Given the description of an element on the screen output the (x, y) to click on. 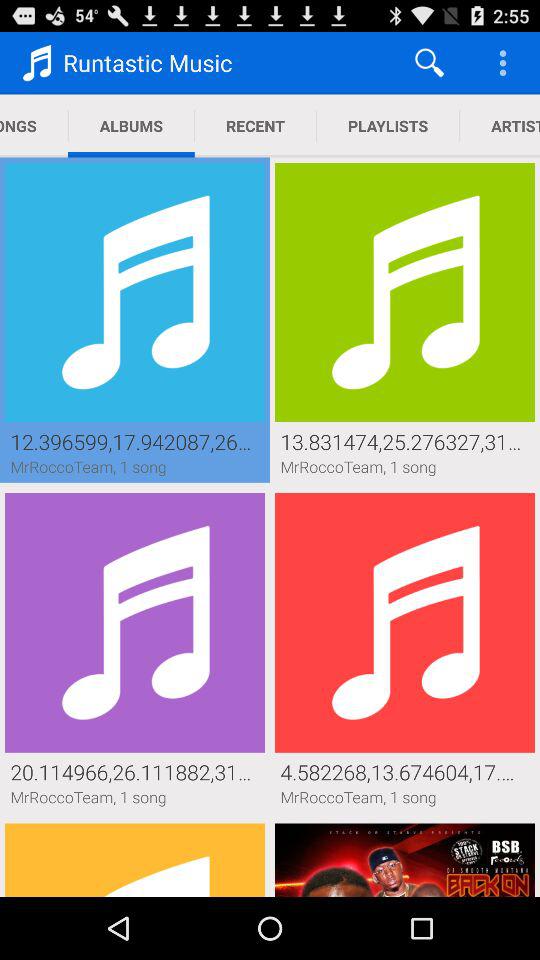
tap the item next to the recent (387, 125)
